Given the description of an element on the screen output the (x, y) to click on. 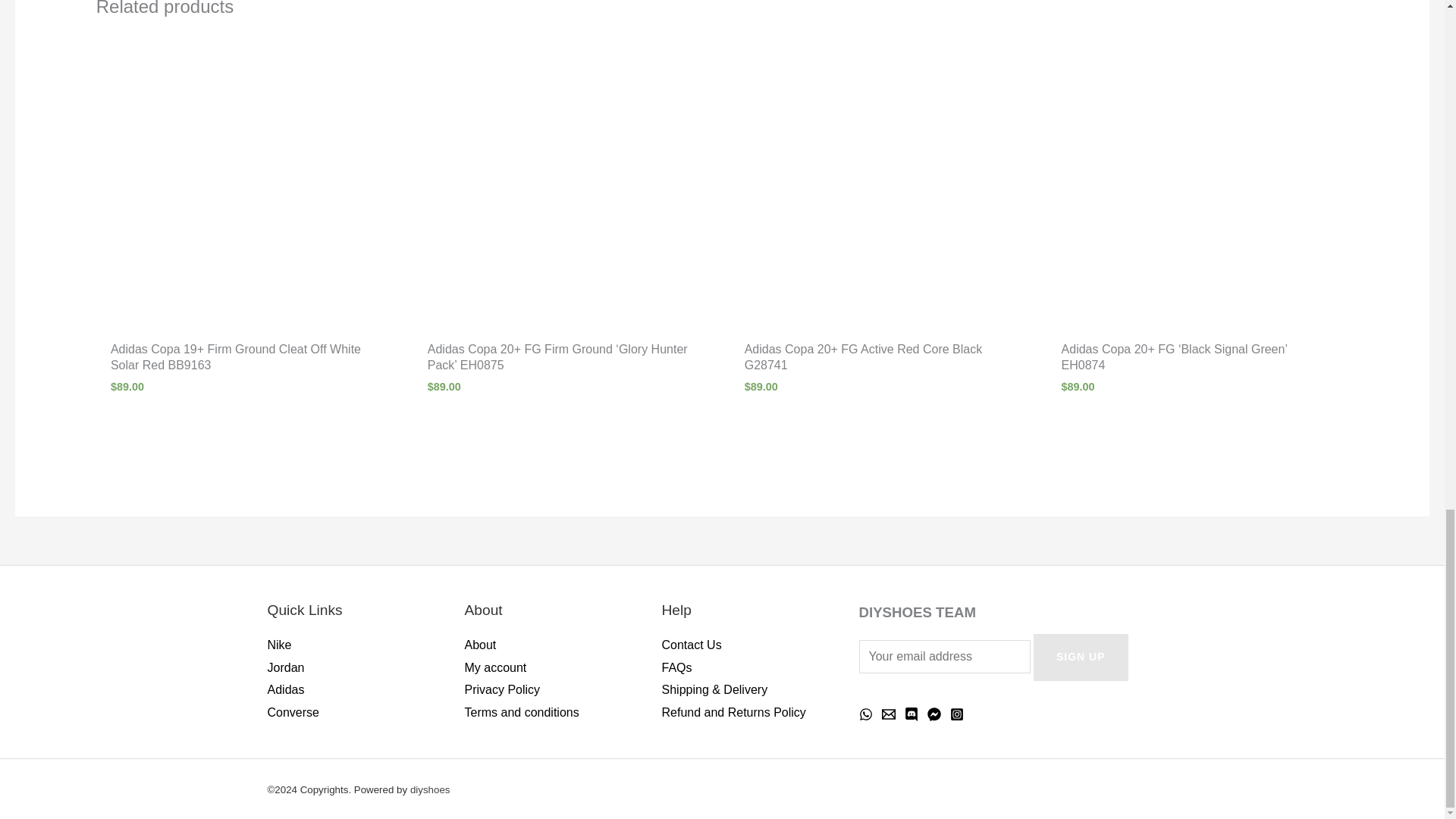
Sign up (1080, 656)
